Given the description of an element on the screen output the (x, y) to click on. 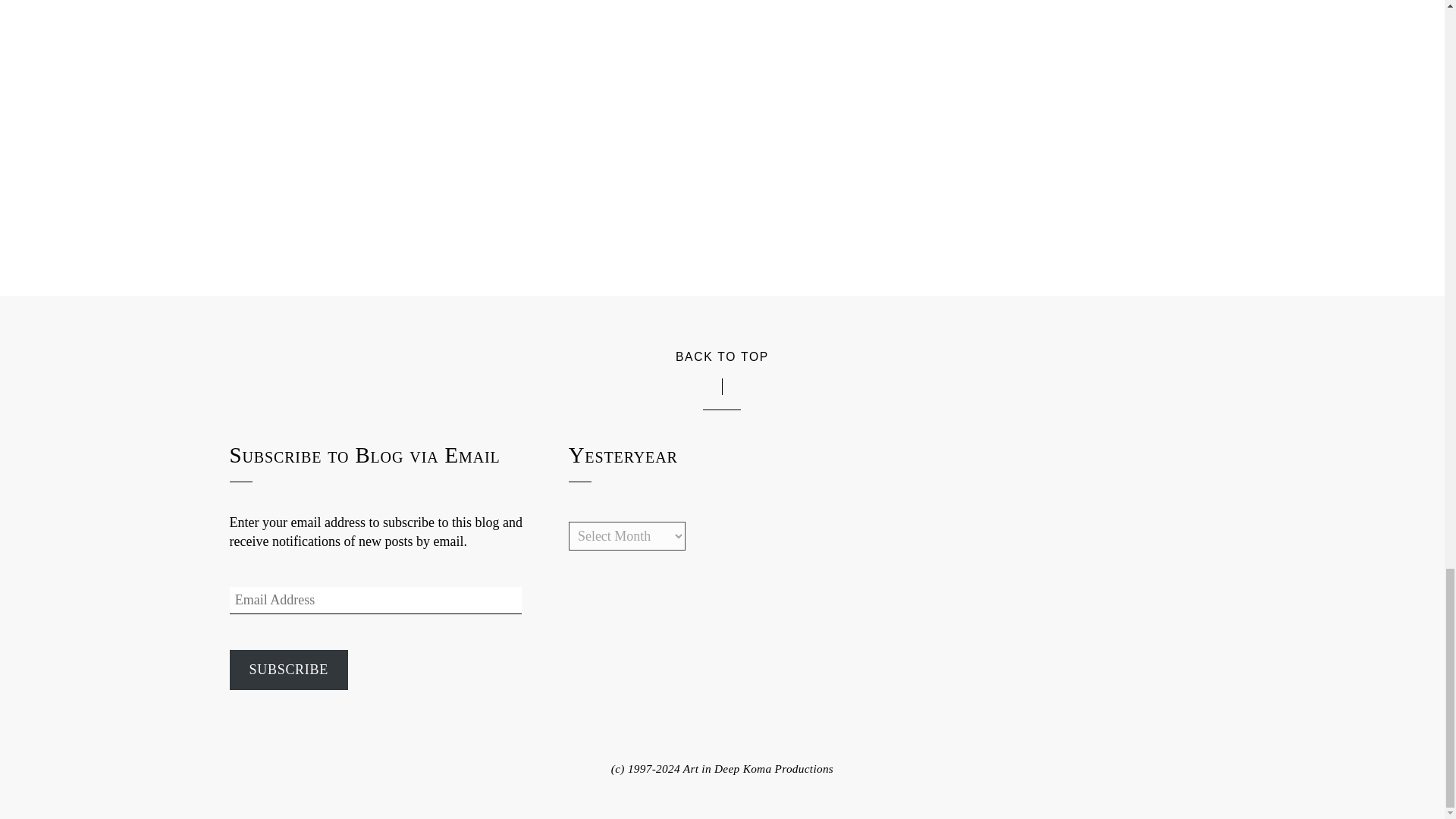
BACK TO TOP (721, 355)
SUBSCRIBE (287, 670)
Comment Form (721, 63)
